Given the description of an element on the screen output the (x, y) to click on. 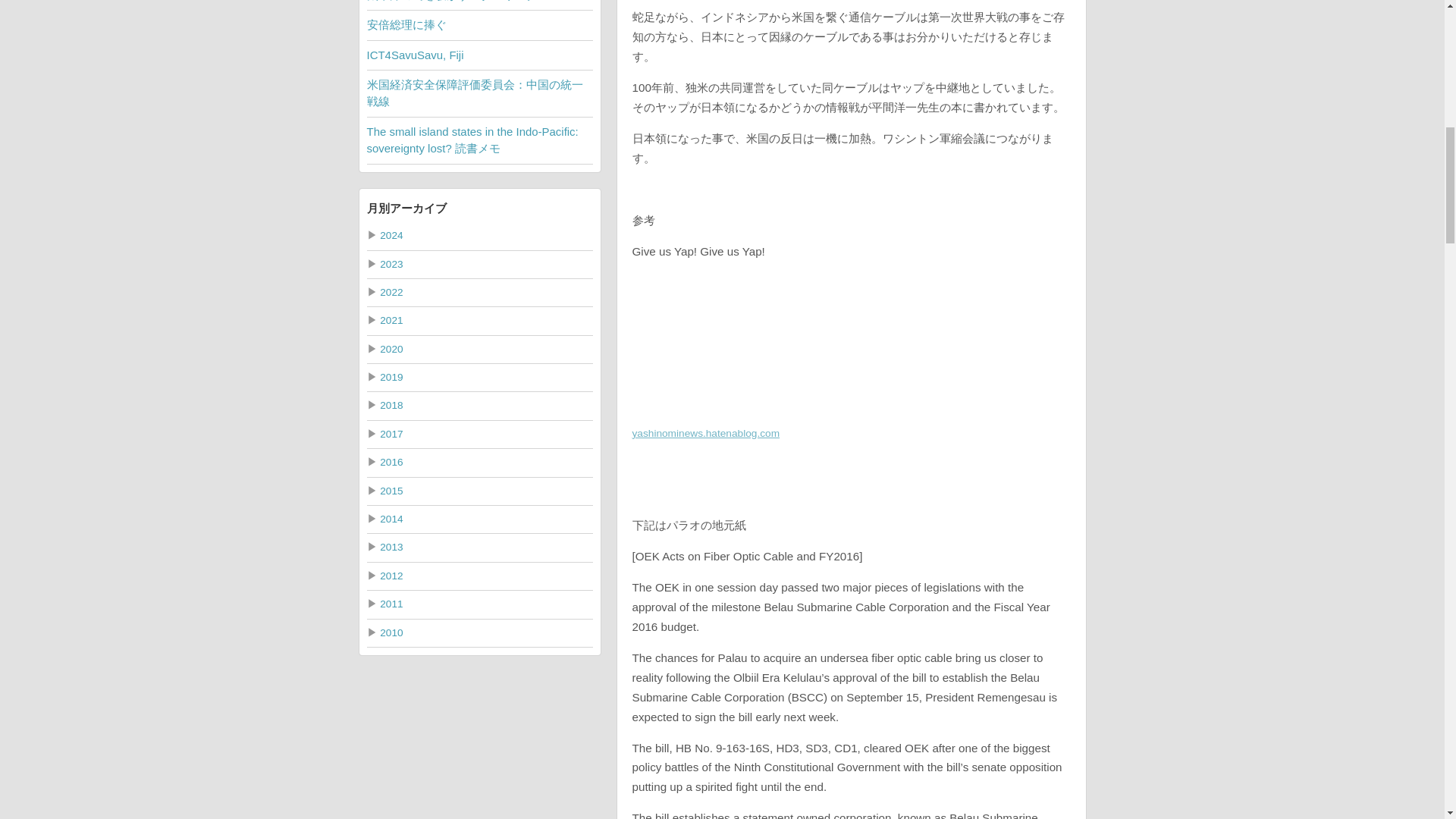
yashinominews.hatenablog.com (705, 432)
